Given the description of an element on the screen output the (x, y) to click on. 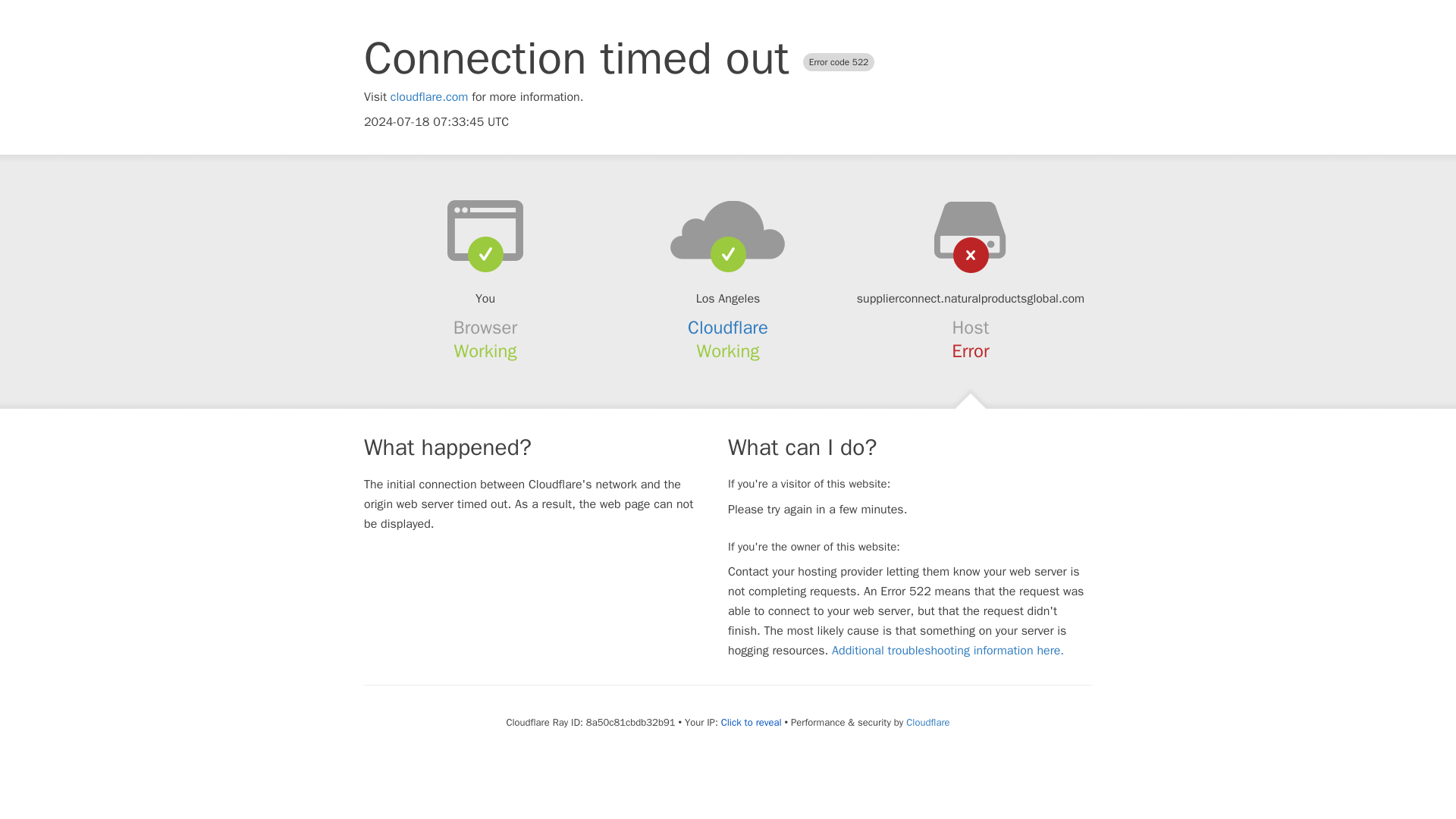
Additional troubleshooting information here. (947, 650)
cloudflare.com (429, 96)
Cloudflare (927, 721)
Click to reveal (750, 722)
Cloudflare (727, 327)
